Given the description of an element on the screen output the (x, y) to click on. 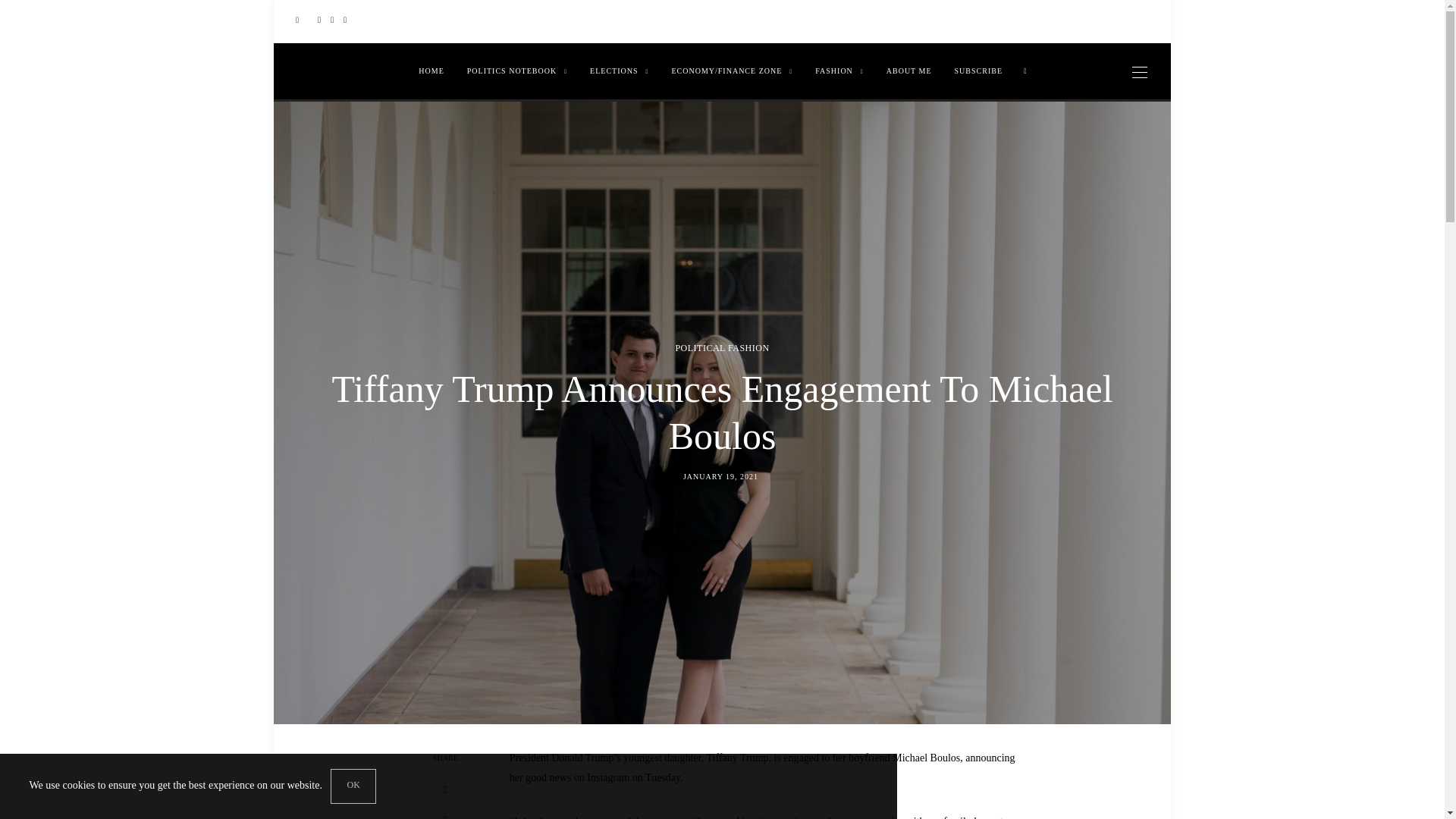
POLITICS NOTEBOOK (516, 71)
HOME (430, 71)
